Given the description of an element on the screen output the (x, y) to click on. 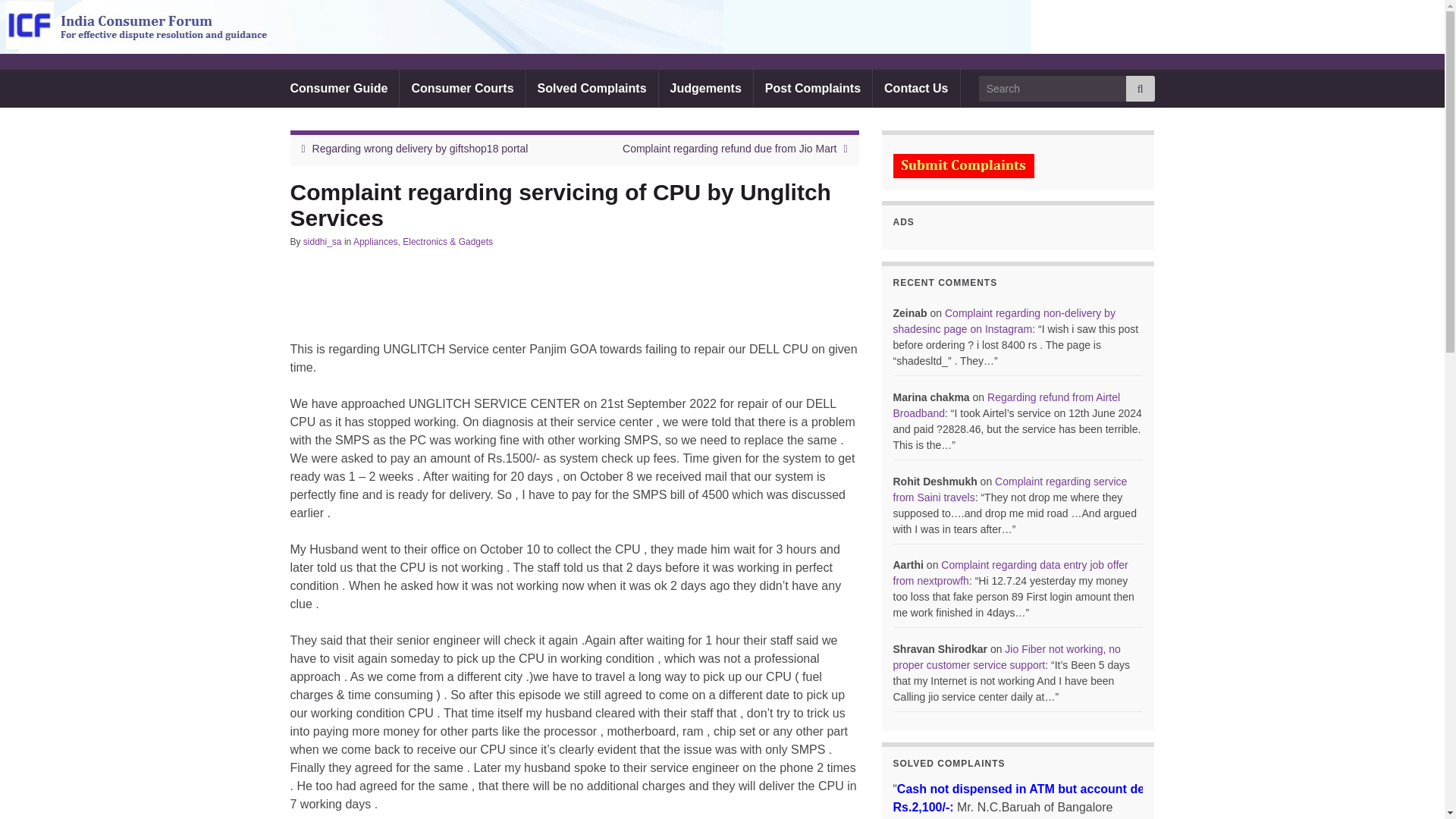
Advertisement (565, 300)
Consumer Guide (338, 88)
Complaint regarding service from Saini travels (1009, 489)
Complaint regarding data entry job offer from nextprowfh (1010, 572)
Regarding wrong delivery by giftshop18 portal (420, 148)
Consumer Courts (461, 88)
Complaint regarding refund due from Jio Mart (729, 148)
Consumer Courts in various states (461, 88)
Jio Fiber not working, no proper customer service support (1007, 656)
Judgements (705, 88)
Contact Us (915, 88)
Solved Complaints (591, 88)
Regarding refund from Airtel Broadband (1007, 405)
Post Complaints (813, 88)
